Given the description of an element on the screen output the (x, y) to click on. 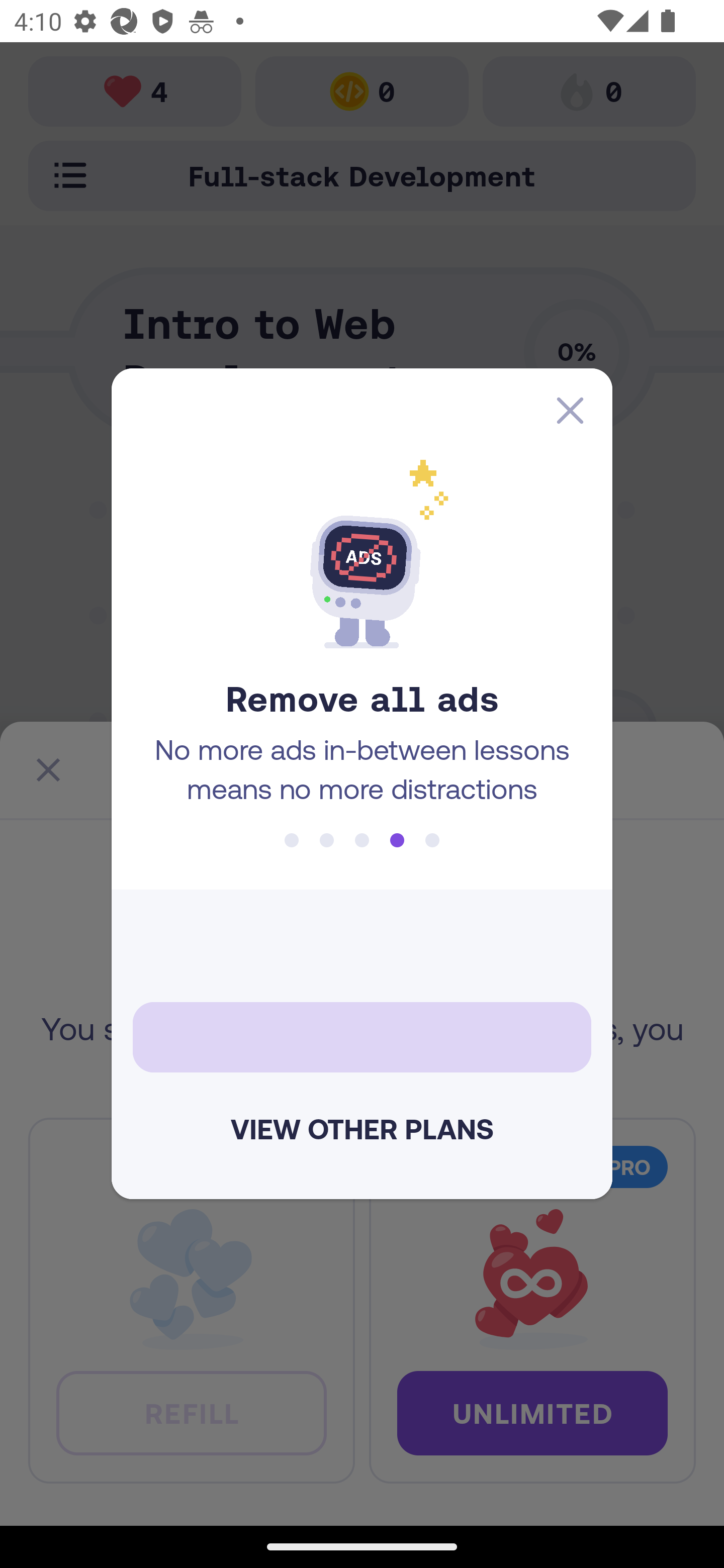
VIEW OTHER PLANS (362, 1128)
